Given the description of an element on the screen output the (x, y) to click on. 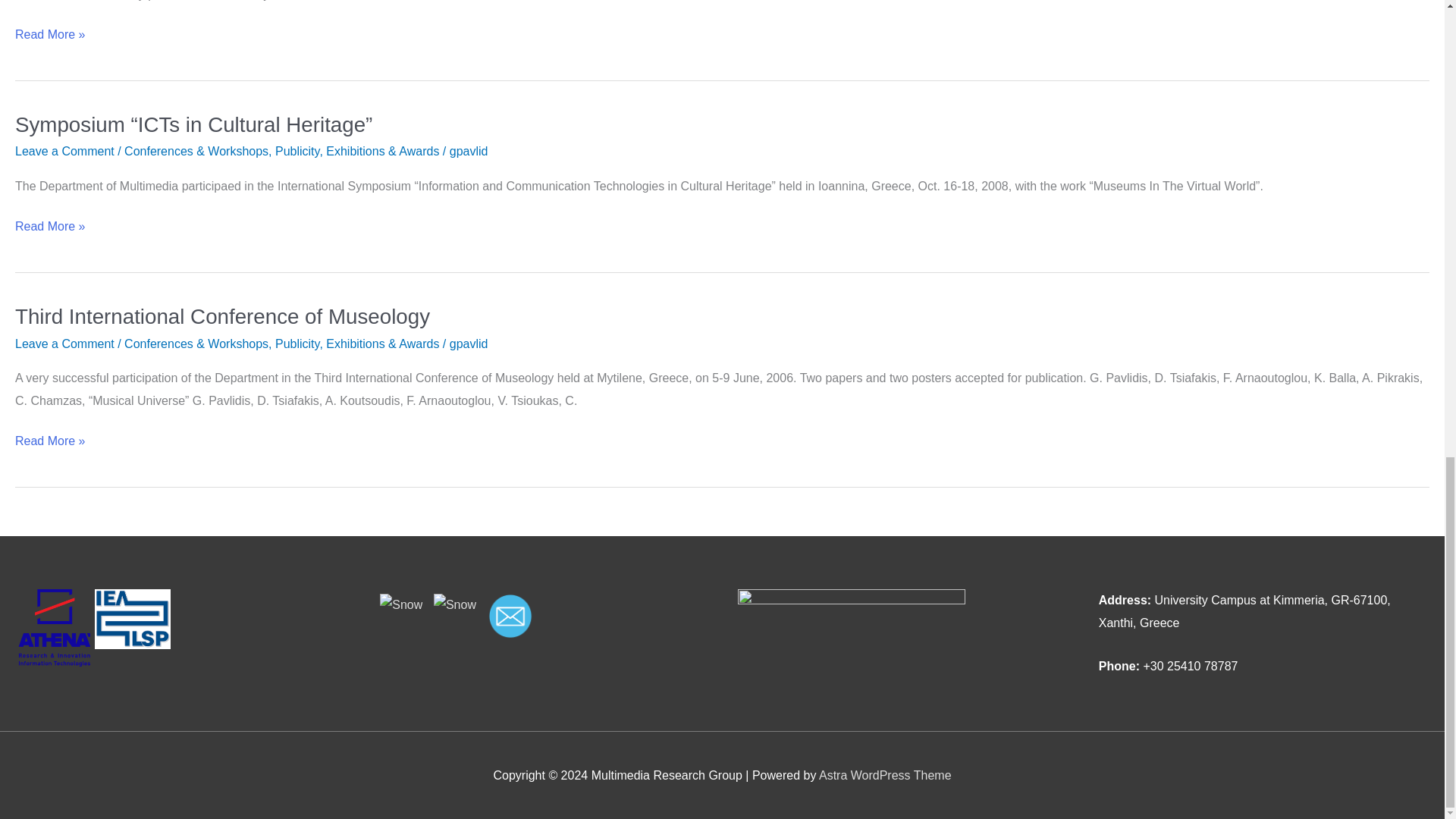
View all posts by gpavlid (468, 151)
View all posts by gpavlid (468, 343)
